Given the description of an element on the screen output the (x, y) to click on. 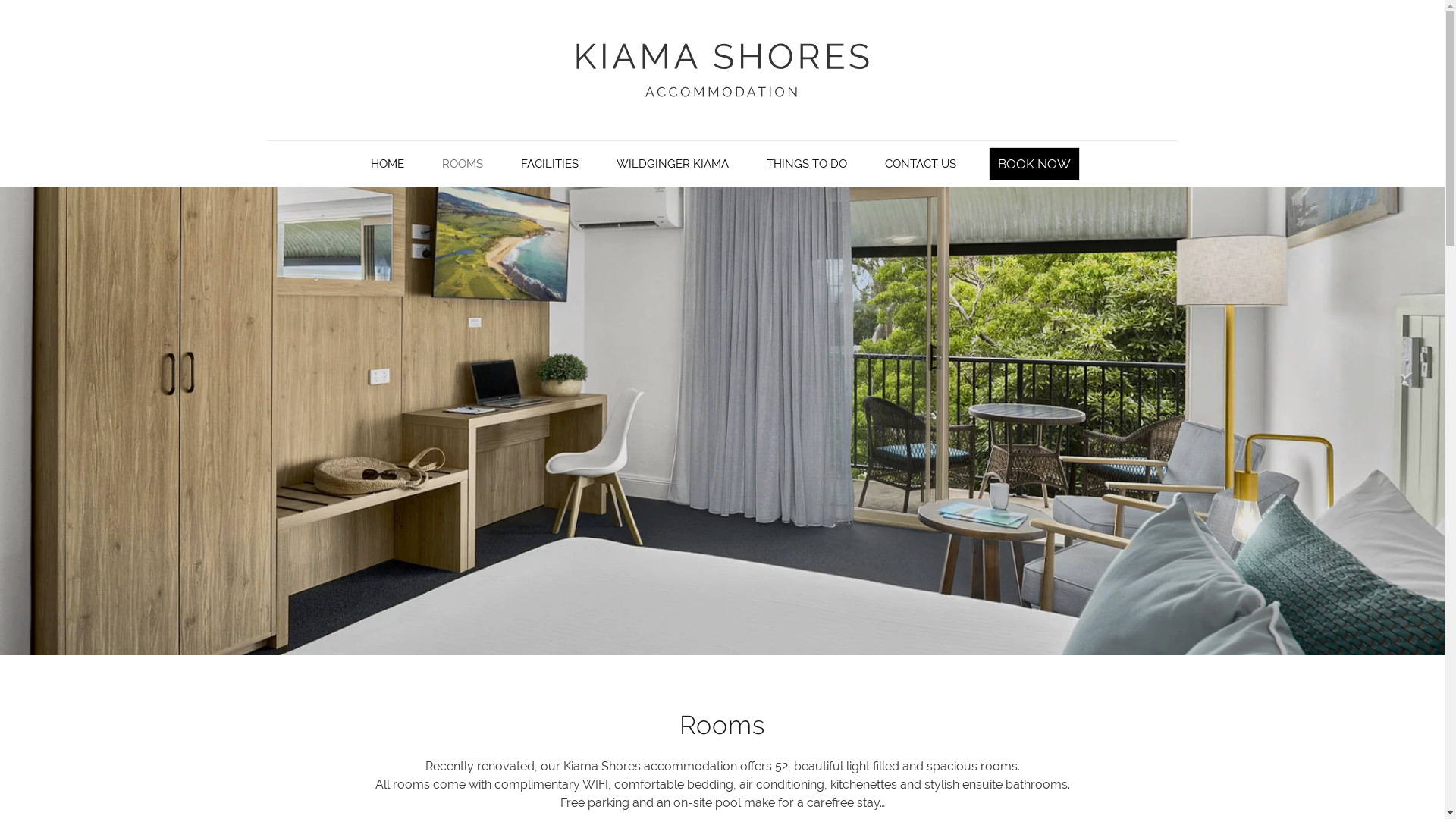
FACILITIES Element type: text (548, 163)
ROOMS Element type: text (461, 163)
WILDGINGER KIAMA Element type: text (671, 163)
HOME Element type: text (386, 163)
THINGS TO DO Element type: text (805, 163)
Book Now Element type: text (1033, 163)
CONTACT US Element type: text (919, 163)
